Given the description of an element on the screen output the (x, y) to click on. 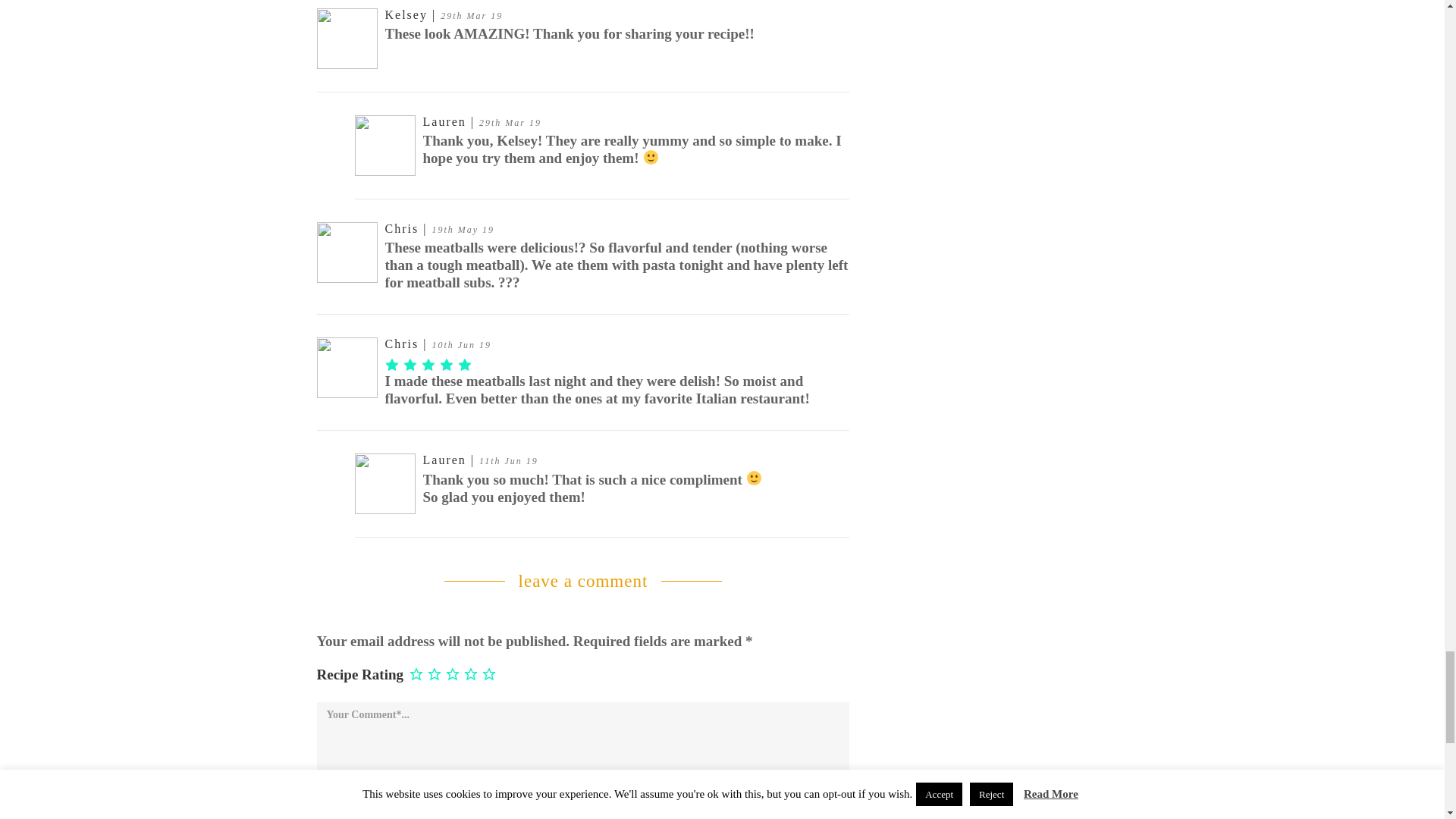
Lauren (446, 459)
Lauren (446, 121)
Kelsey (408, 14)
